Given the description of an element on the screen output the (x, y) to click on. 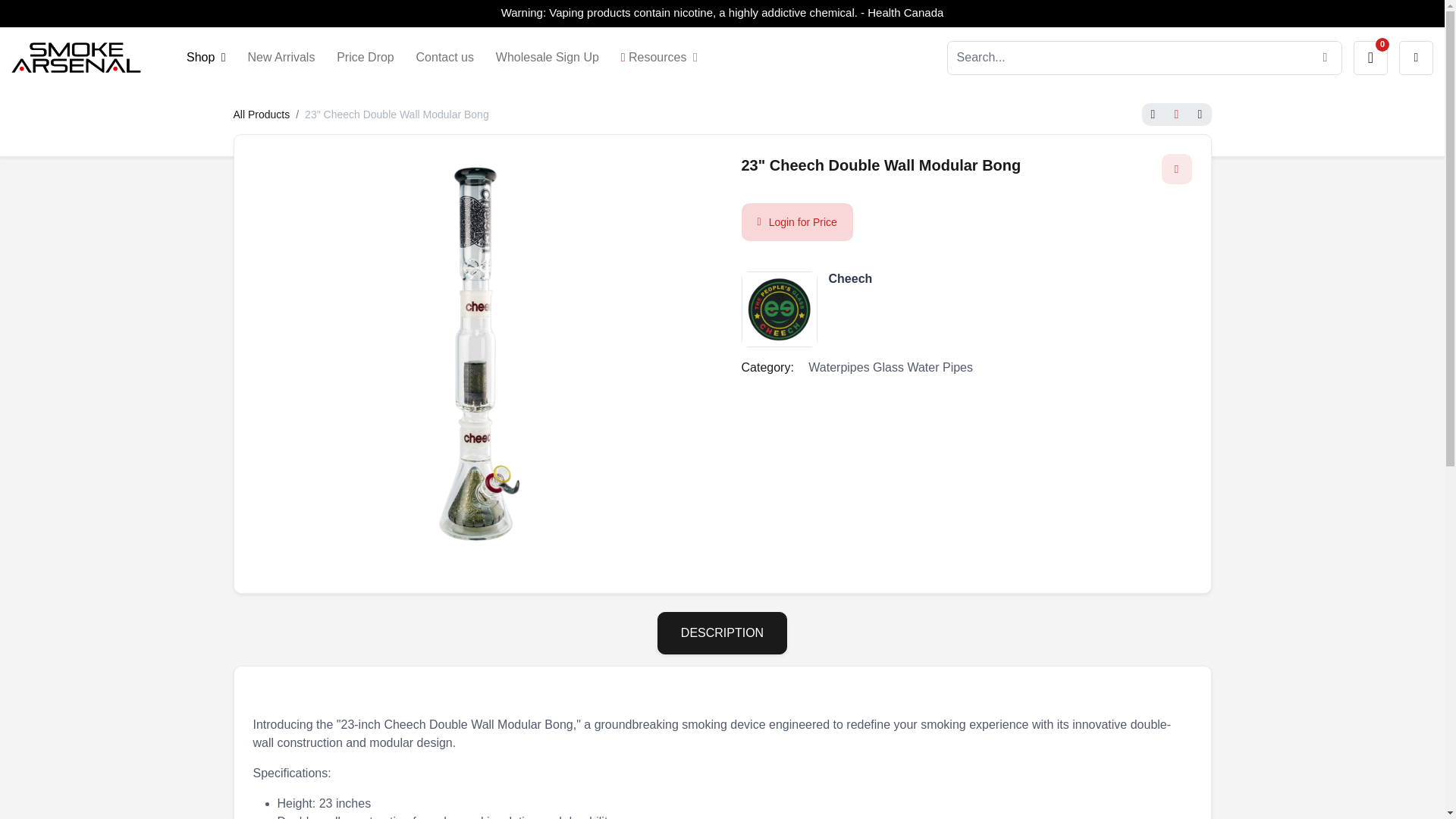
Smoke Arsenal (76, 57)
Search (1324, 57)
Shop (206, 57)
